Given the description of an element on the screen output the (x, y) to click on. 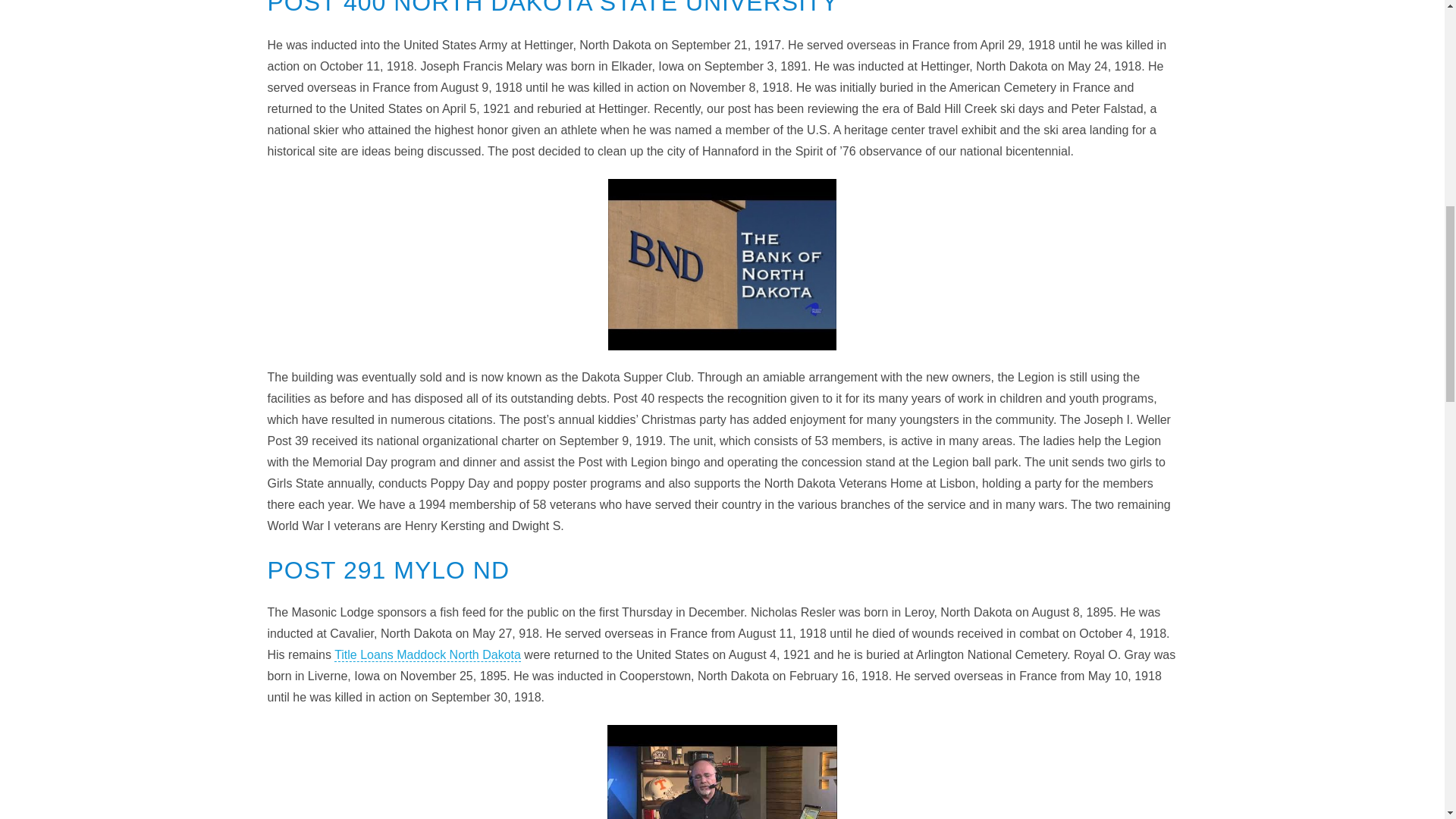
Title Loans Maddock North Dakota (427, 654)
